Given the description of an element on the screen output the (x, y) to click on. 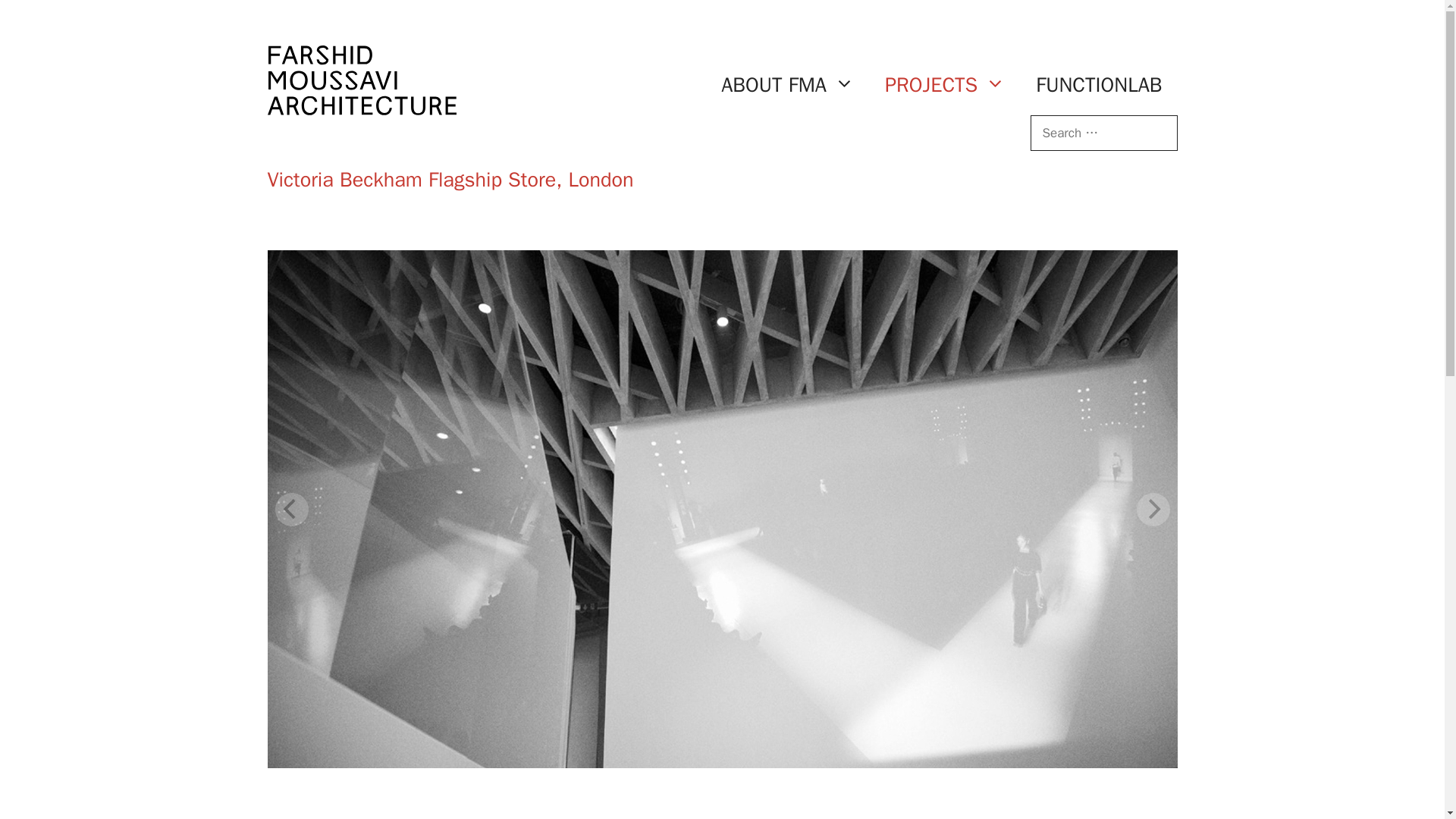
ABOUT FMA (787, 84)
PROJECTS (944, 84)
FunctionLab (361, 105)
Search for: (1102, 133)
FARSHID MOUSSAVI ARCHITECTURE (361, 80)
